Given the description of an element on the screen output the (x, y) to click on. 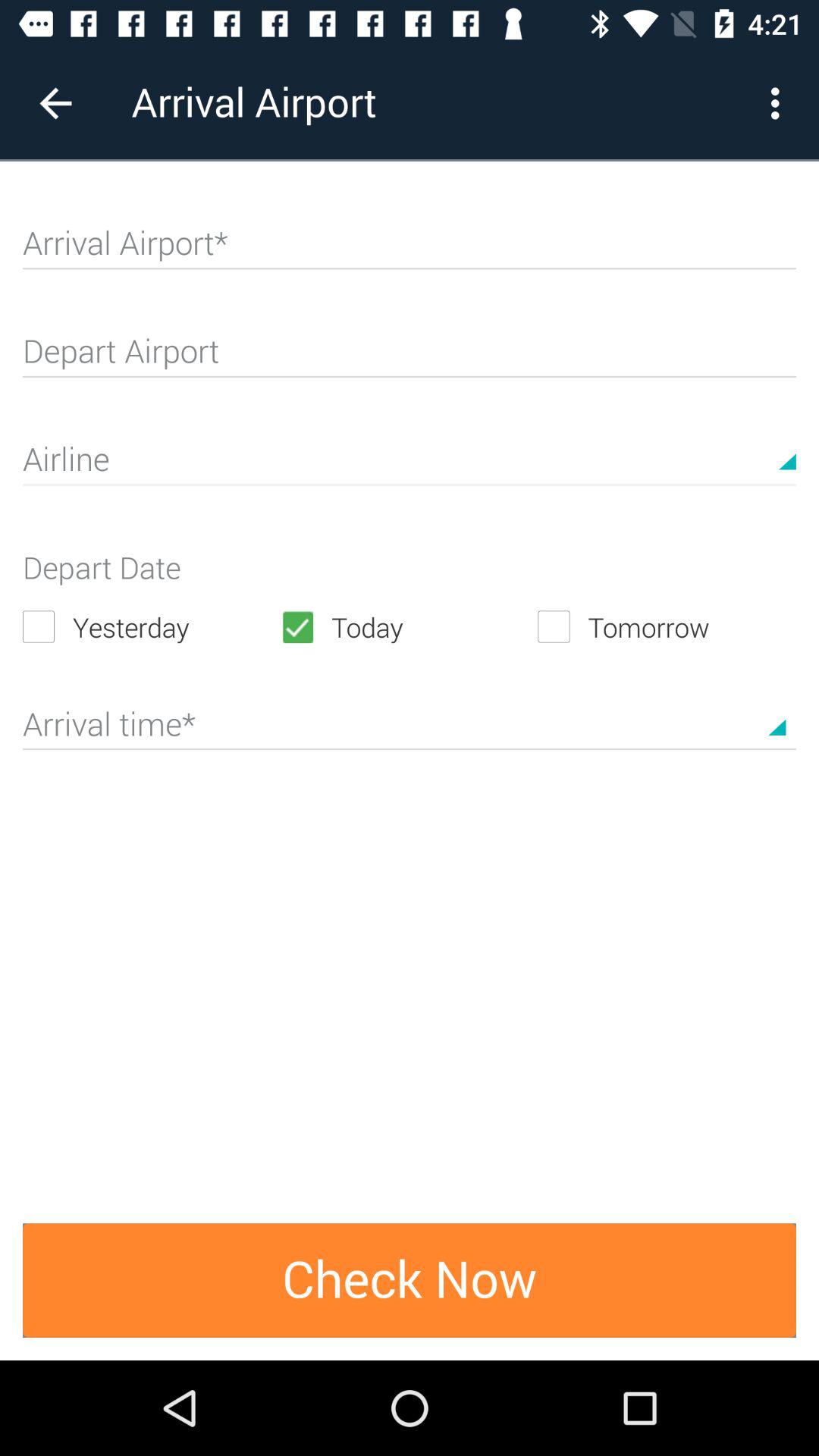
click the item next to arrival airport item (55, 103)
